Given the description of an element on the screen output the (x, y) to click on. 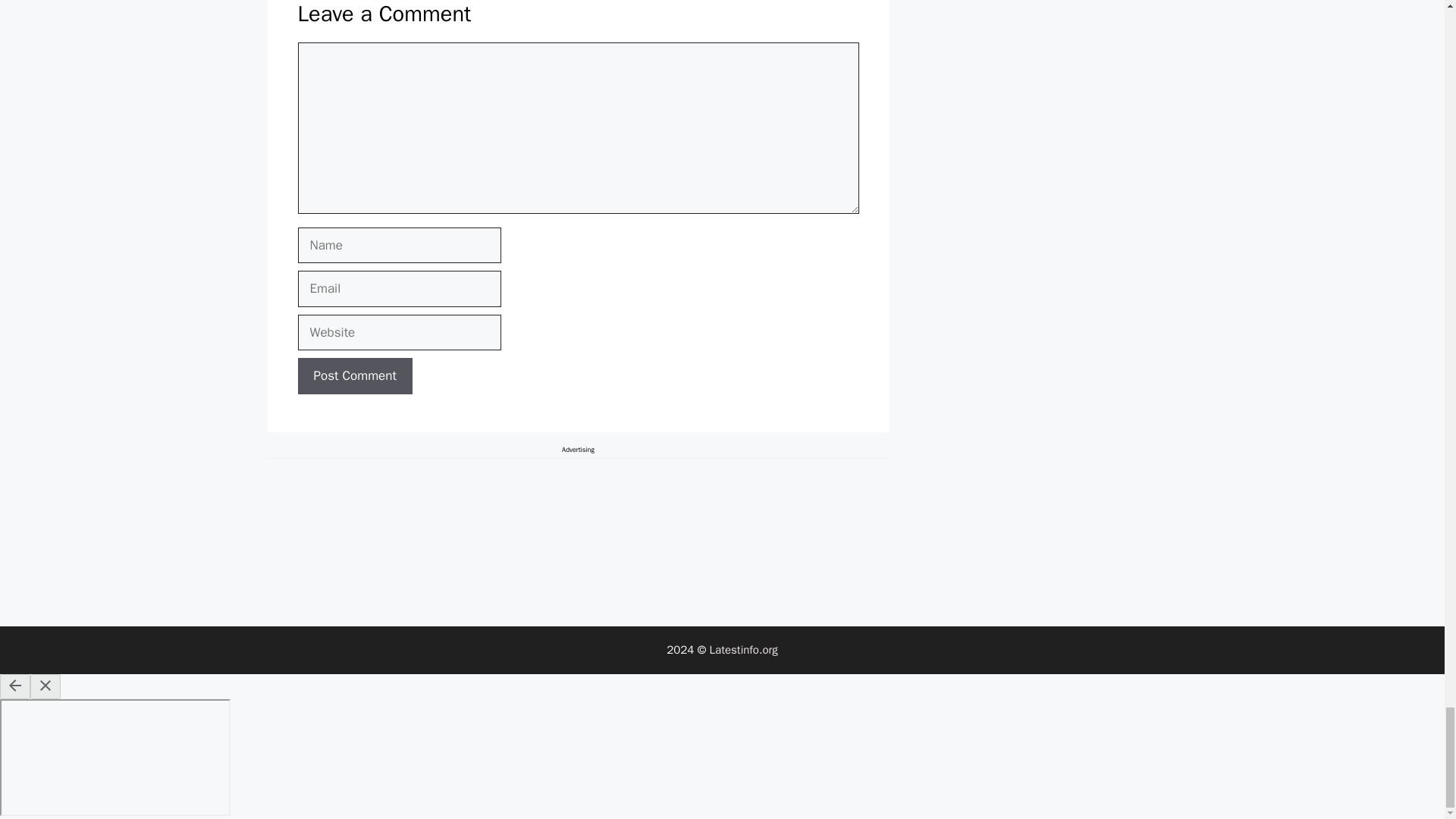
Post Comment (354, 375)
Latestinfo.org (743, 649)
Post Comment (354, 375)
